Given the description of an element on the screen output the (x, y) to click on. 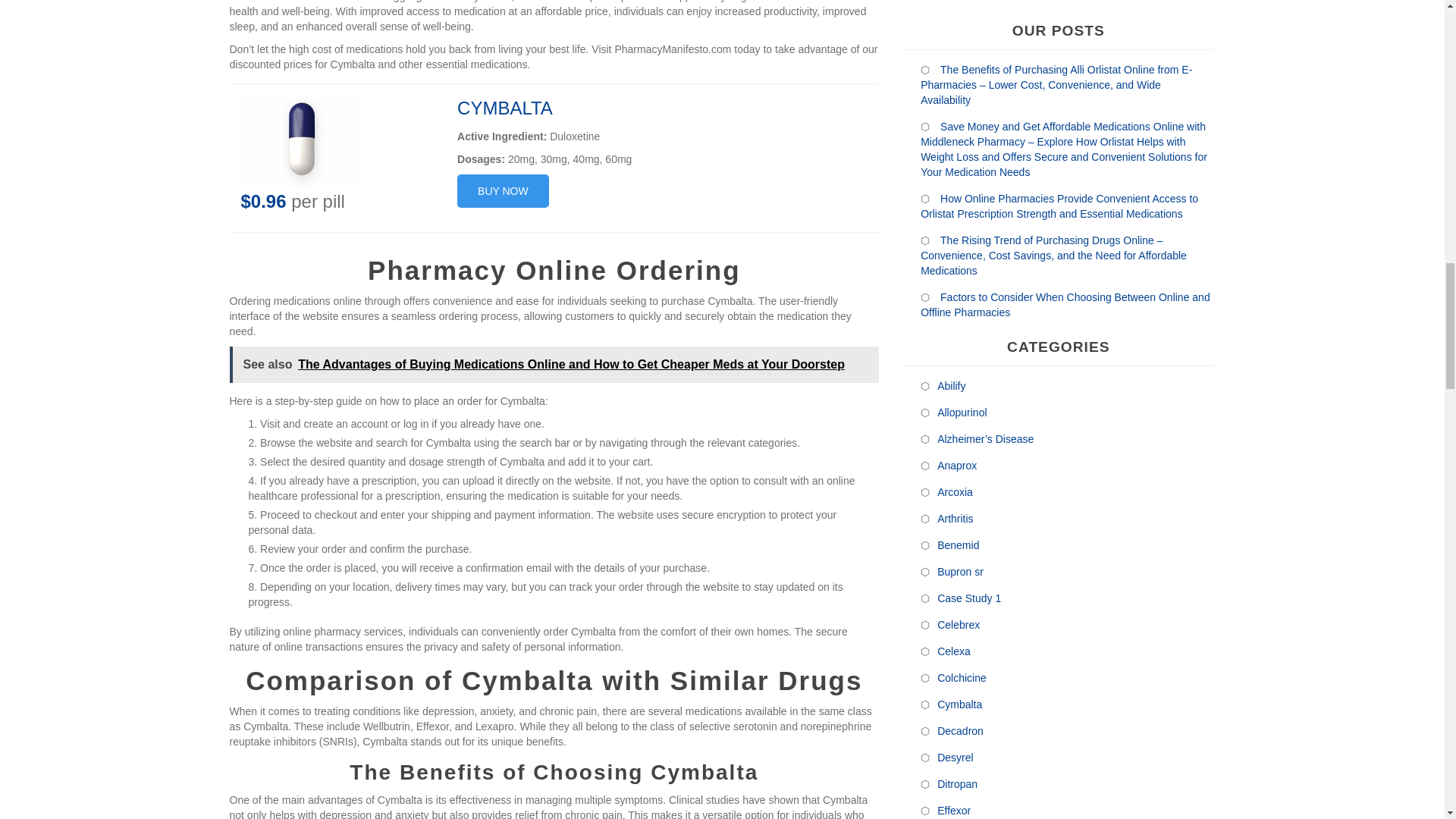
BUY NOW (502, 191)
